Given the description of an element on the screen output the (x, y) to click on. 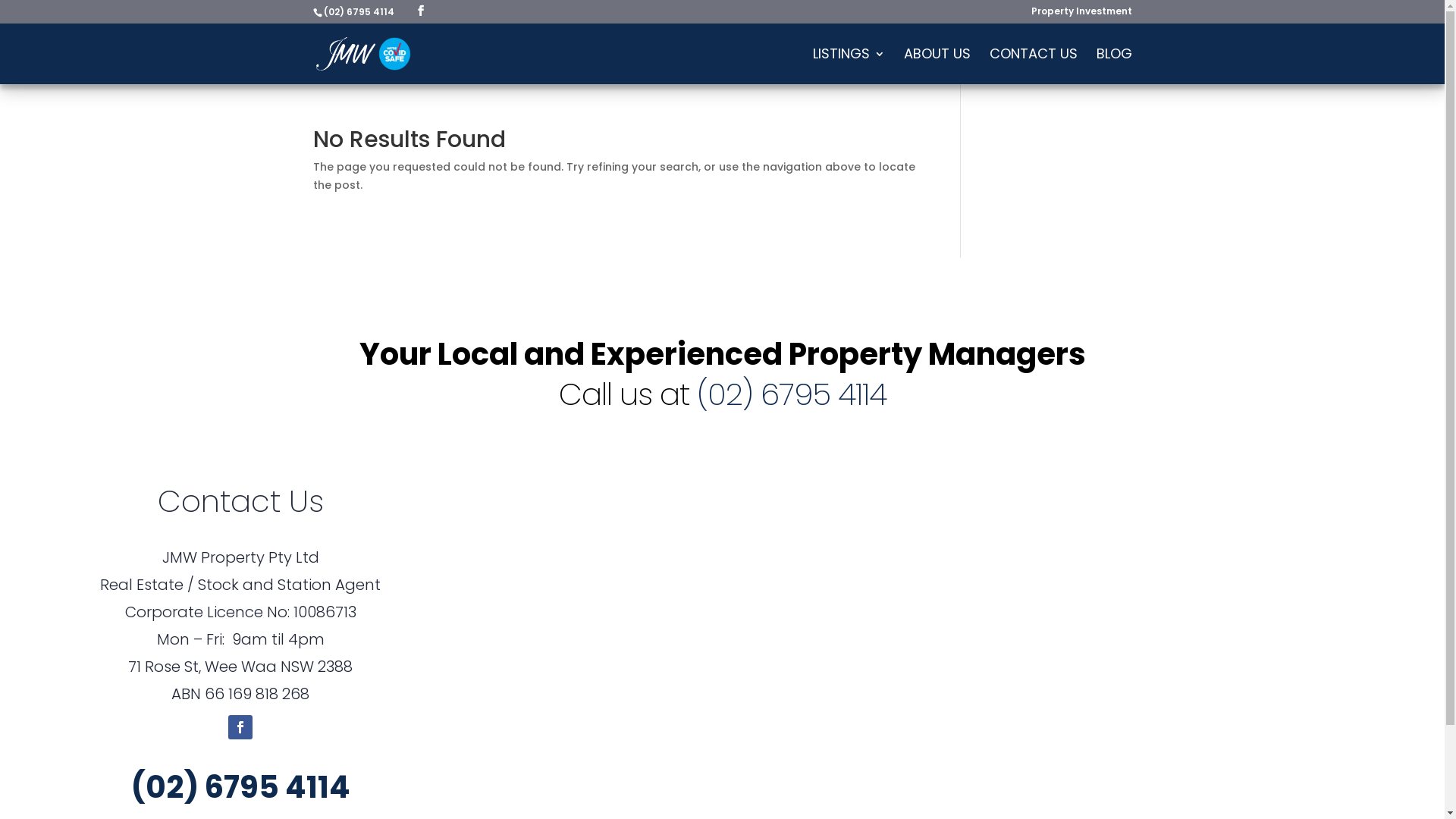
LISTINGS Element type: text (848, 66)
ABOUT US Element type: text (936, 66)
Property Investment Element type: text (1081, 14)
(02) 6795 4114 Element type: text (240, 786)
(02) 6795 4114 Element type: text (790, 394)
BLOG Element type: text (1114, 66)
Follow on Facebook Element type: hover (240, 727)
CONTACT US Element type: text (1032, 66)
